Given the description of an element on the screen output the (x, y) to click on. 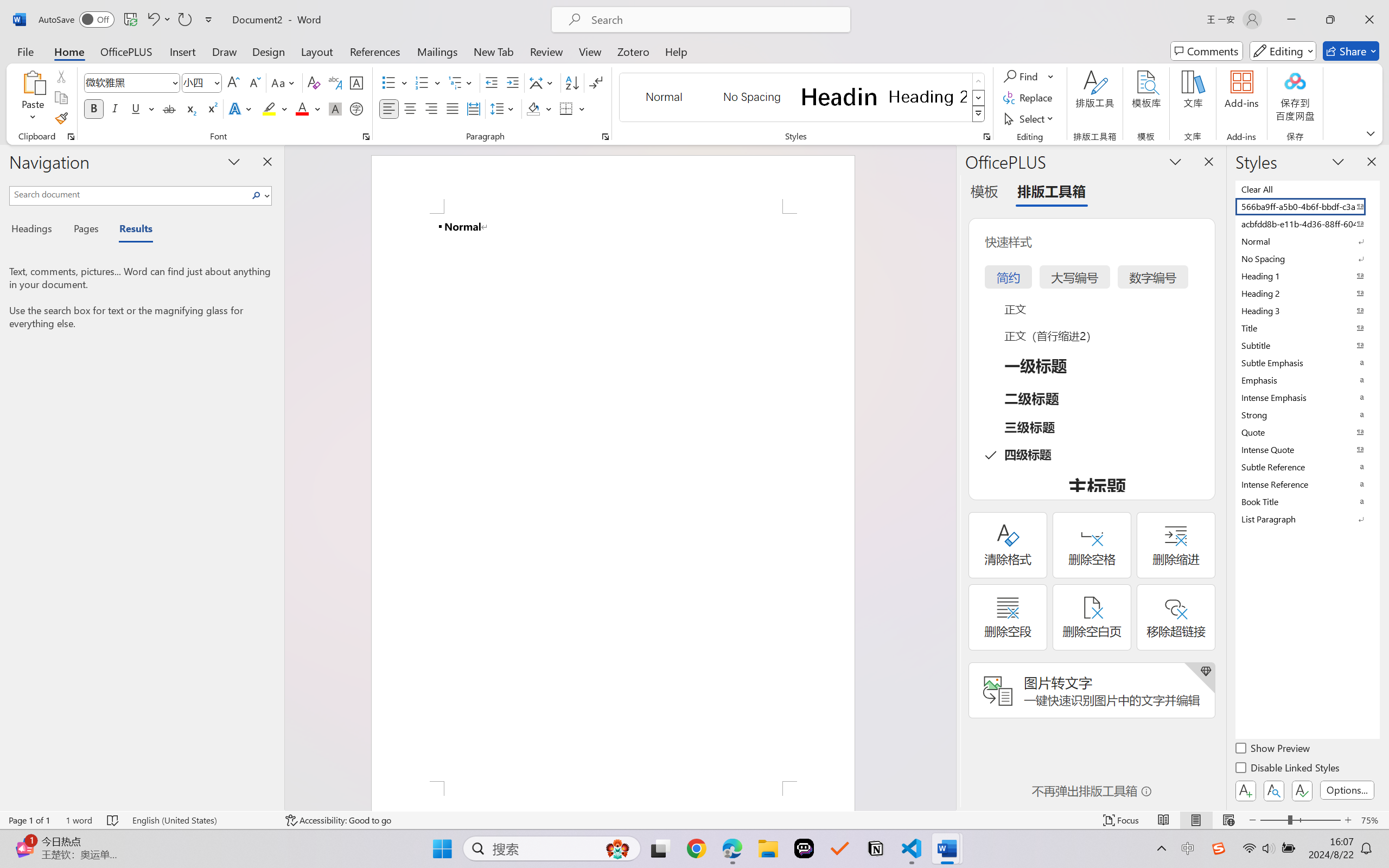
Heading 2 (927, 96)
Microsoft search (715, 19)
File Tab (24, 51)
Show/Hide Editing Marks (595, 82)
References (375, 51)
Borders (566, 108)
Normal (1306, 240)
566ba9ff-a5b0-4b6f-bbdf-c3ab41993fc2 (1306, 206)
